Given the description of an element on the screen output the (x, y) to click on. 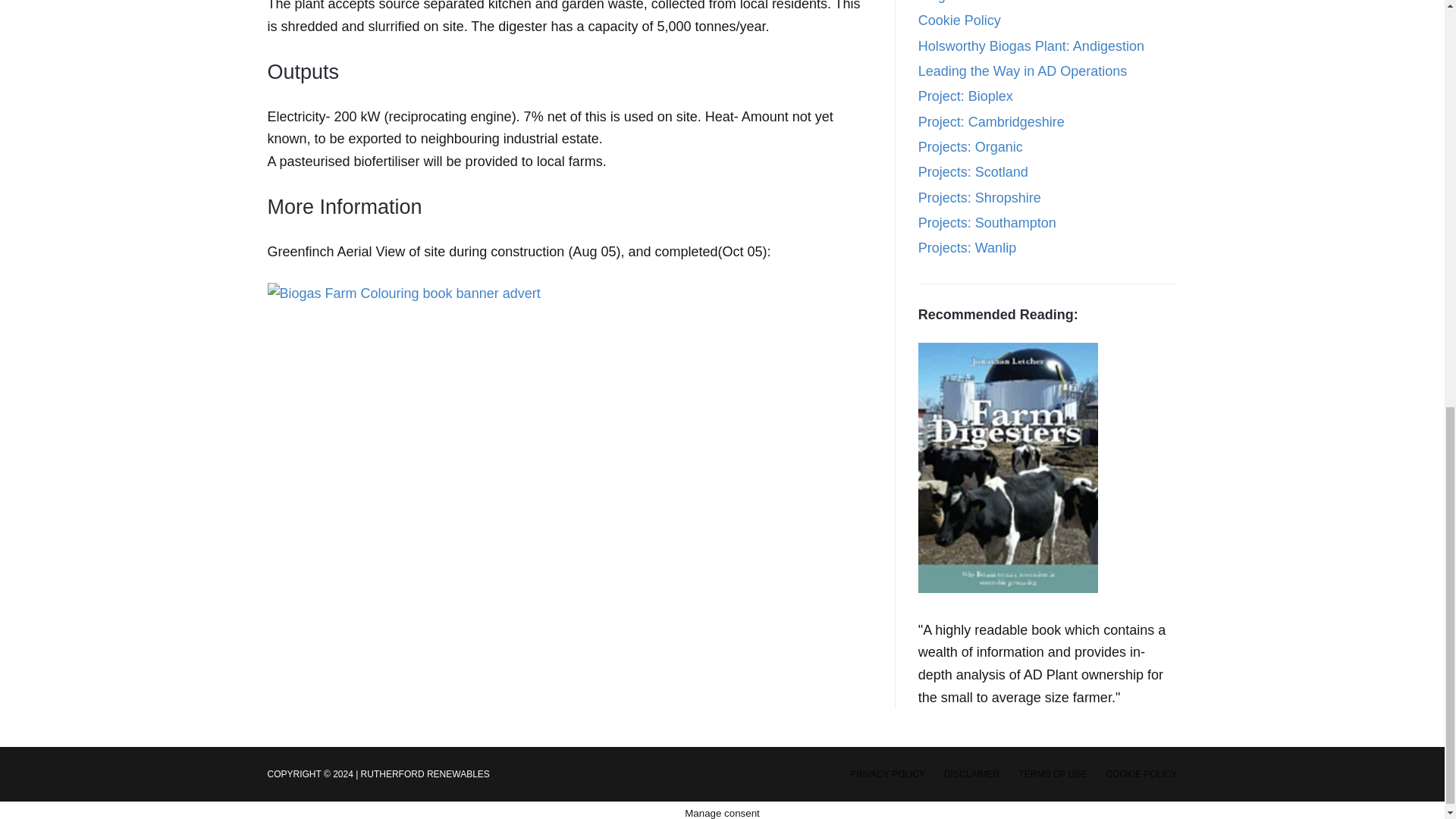
Project: Cambridgeshire (991, 121)
Projects: Shropshire (979, 196)
Blog (931, 1)
PRIVACY POLICY (887, 773)
COOKIE POLICY (1140, 773)
Projects: Wanlip (967, 247)
TERMS OF USE (1051, 773)
Projects: Organic (970, 146)
Project: Bioplex (965, 96)
